Given the description of an element on the screen output the (x, y) to click on. 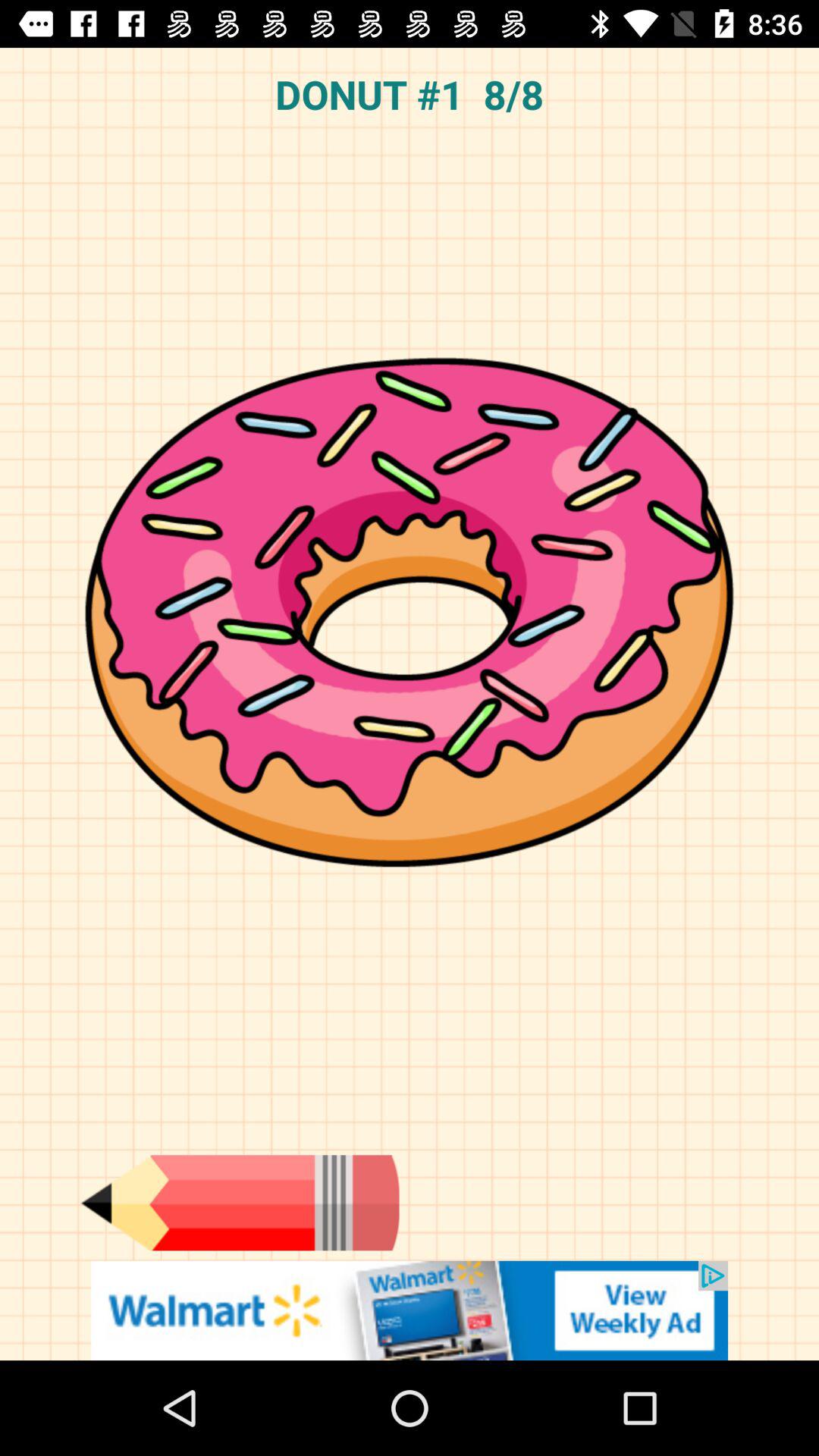
use pencil tool (239, 1202)
